Given the description of an element on the screen output the (x, y) to click on. 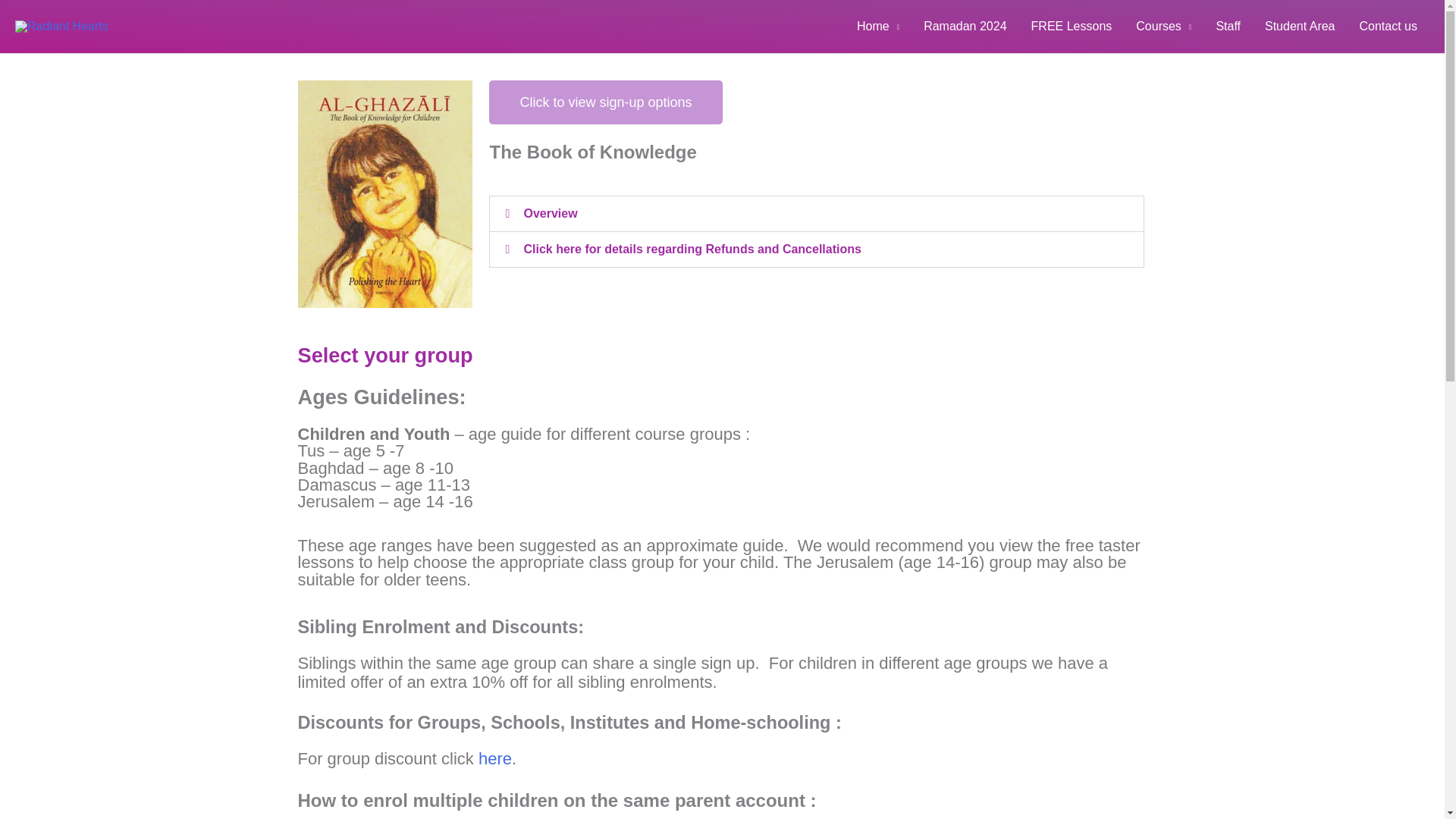
Click to view sign-up options (605, 102)
Staff (1228, 26)
Home (877, 26)
Overview (549, 213)
Contact us (1388, 26)
Courses (1164, 26)
FREE Lessons (1071, 26)
Ramadan 2024 (964, 26)
Student Area (1300, 26)
Click here for details regarding Refunds and Cancellations (691, 248)
